Given the description of an element on the screen output the (x, y) to click on. 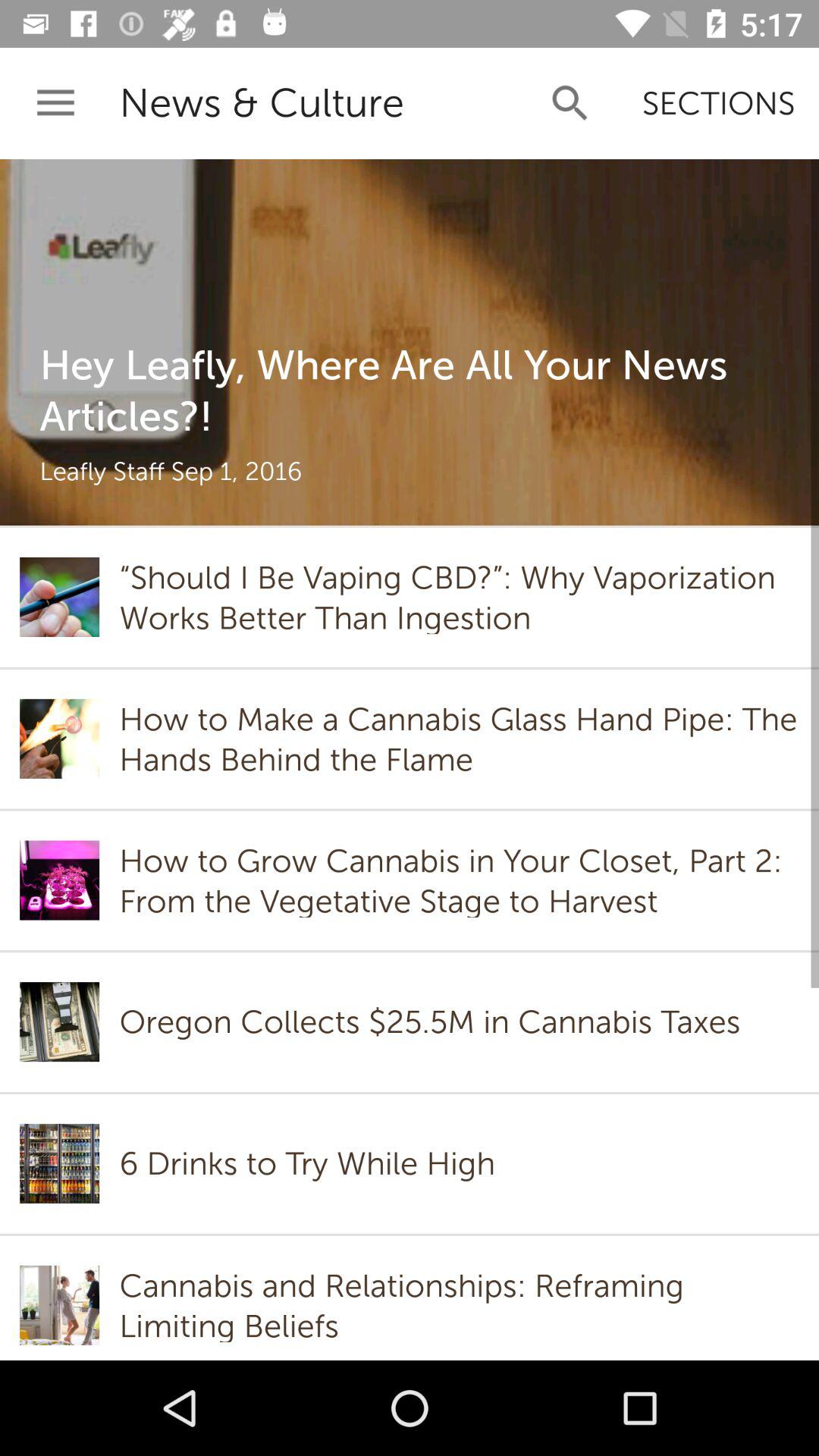
press should i be icon (459, 597)
